Given the description of an element on the screen output the (x, y) to click on. 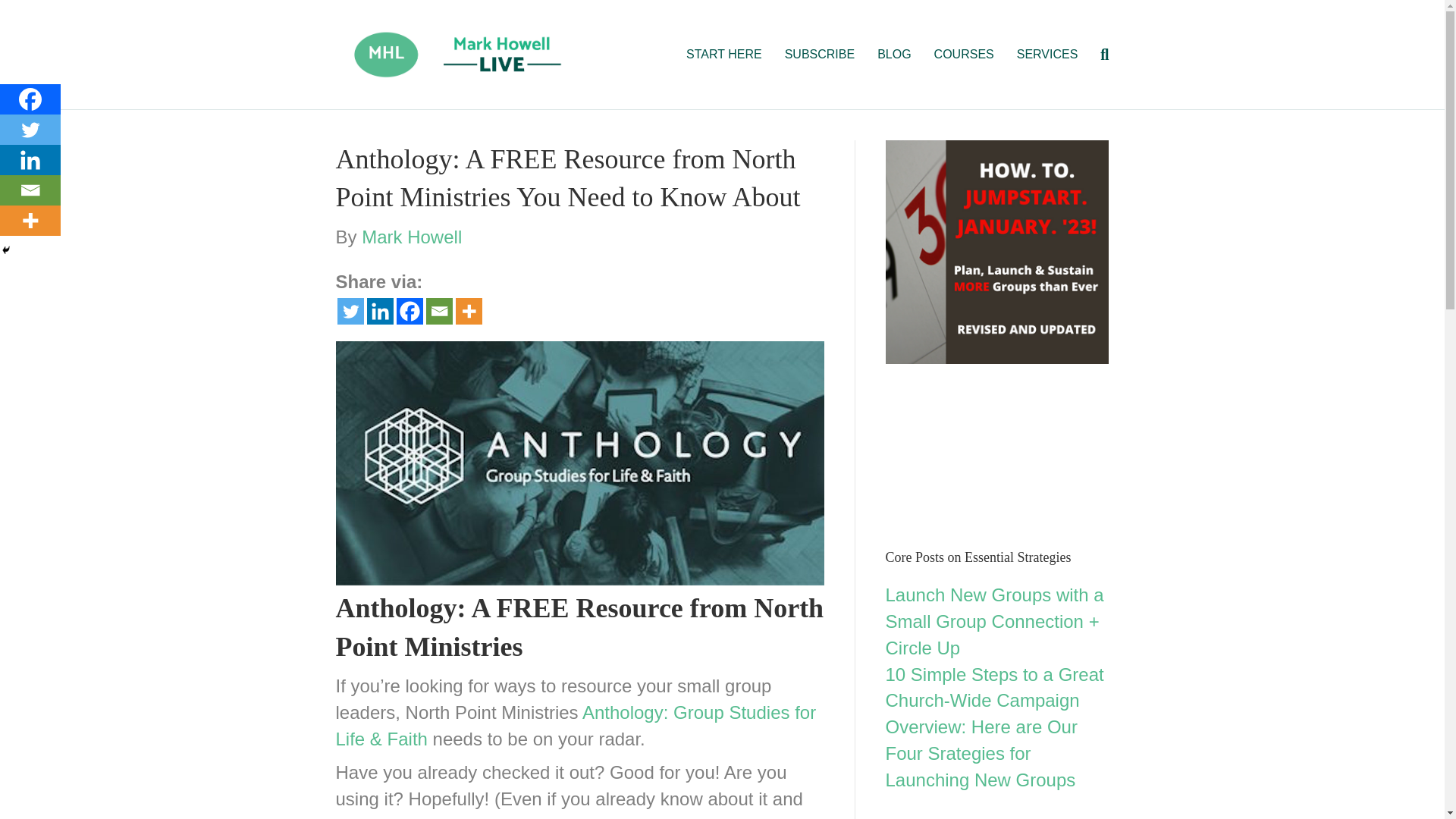
Linkedin (379, 311)
More (467, 311)
BLOG (893, 54)
Mark Howell (411, 236)
START HERE (724, 54)
More (30, 220)
SERVICES (1047, 54)
Linkedin (30, 159)
Email (439, 311)
Twitter (30, 129)
Facebook (30, 99)
SUBSCRIBE (819, 54)
Twitter (349, 311)
COURSES (964, 54)
Email (30, 190)
